Given the description of an element on the screen output the (x, y) to click on. 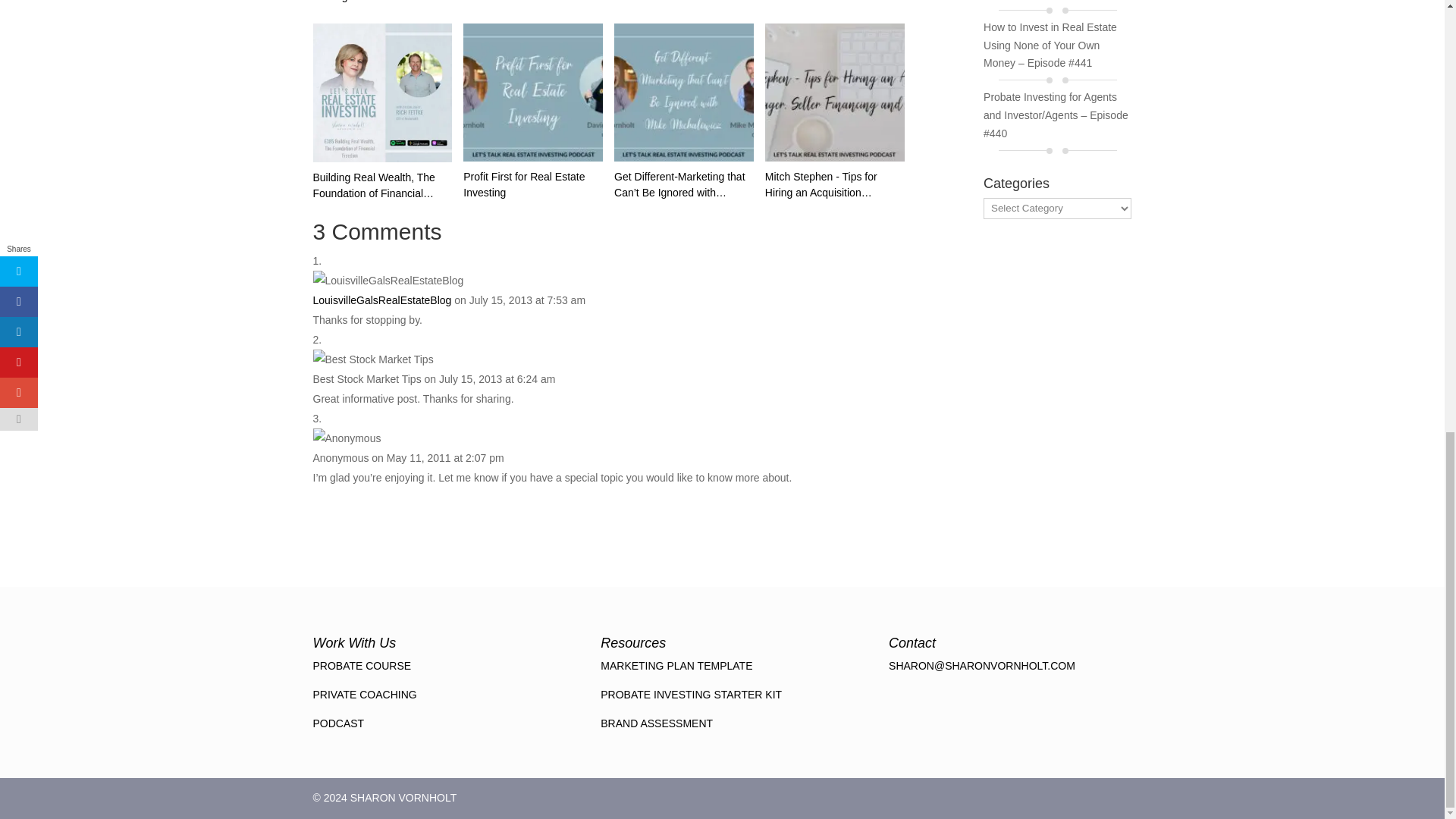
PROBATE INVESTING STARTER KIT (690, 694)
LouisvilleGalsRealEstateBlog (382, 300)
BRAND ASSESSMENT (656, 723)
MARKETING PLAN TEMPLATE (675, 665)
The Only Woman in The Room (684, 2)
PODCAST (338, 723)
You Are A Badass by Jen Sincero - Book Review (532, 2)
Profit First for Real Estate Investing (532, 92)
PROBATE COURSE (361, 665)
18 Minutes Book Review - Finding Your Focus (382, 2)
